Given the description of an element on the screen output the (x, y) to click on. 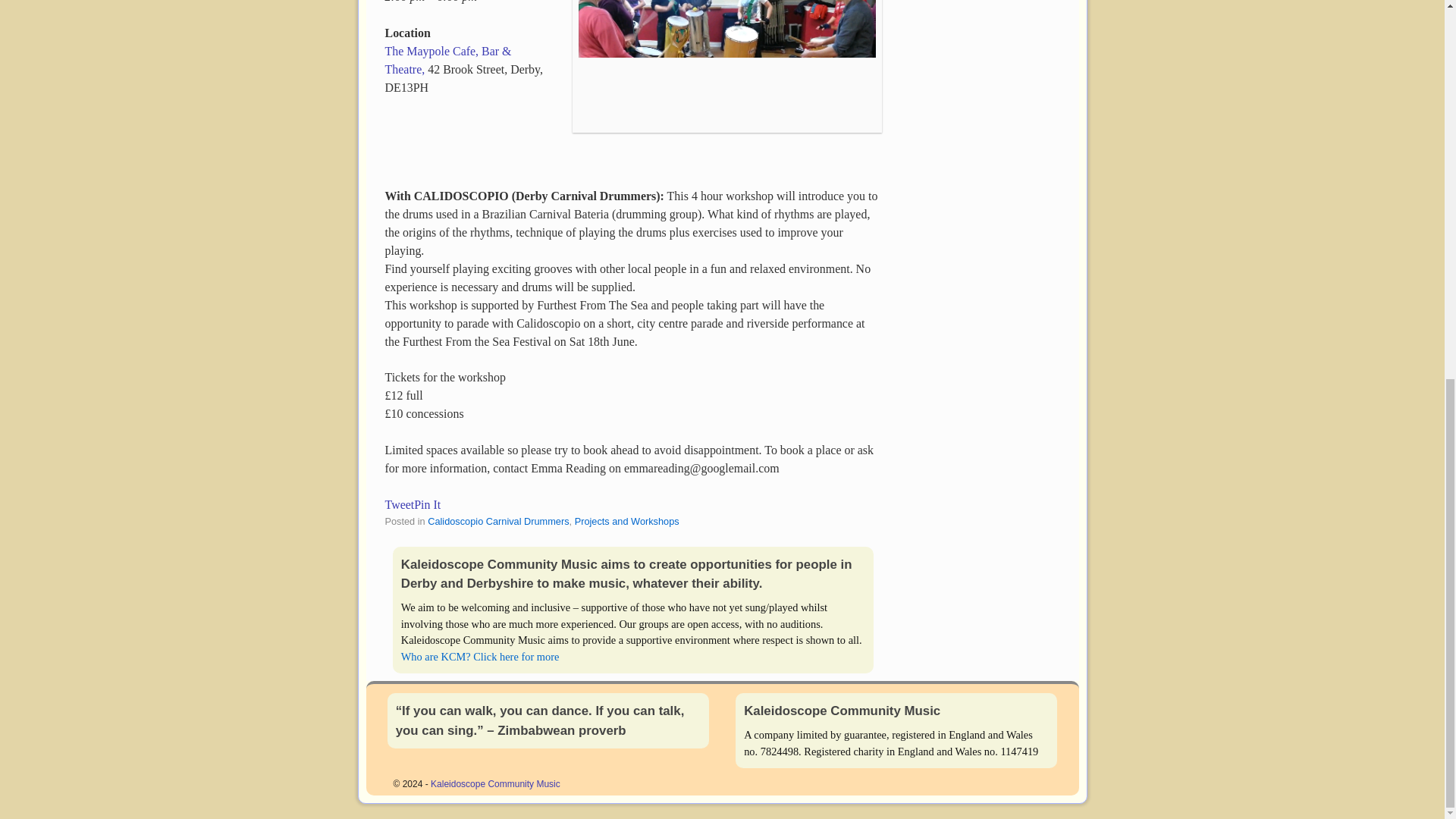
Calidoscopio Carnival Drummers (498, 521)
Pin It (427, 504)
Projects and Workshops (627, 521)
Tweet (399, 504)
Who are KCM? Click here for more (480, 656)
Kaleidoscope Community Music (495, 783)
